Given the description of an element on the screen output the (x, y) to click on. 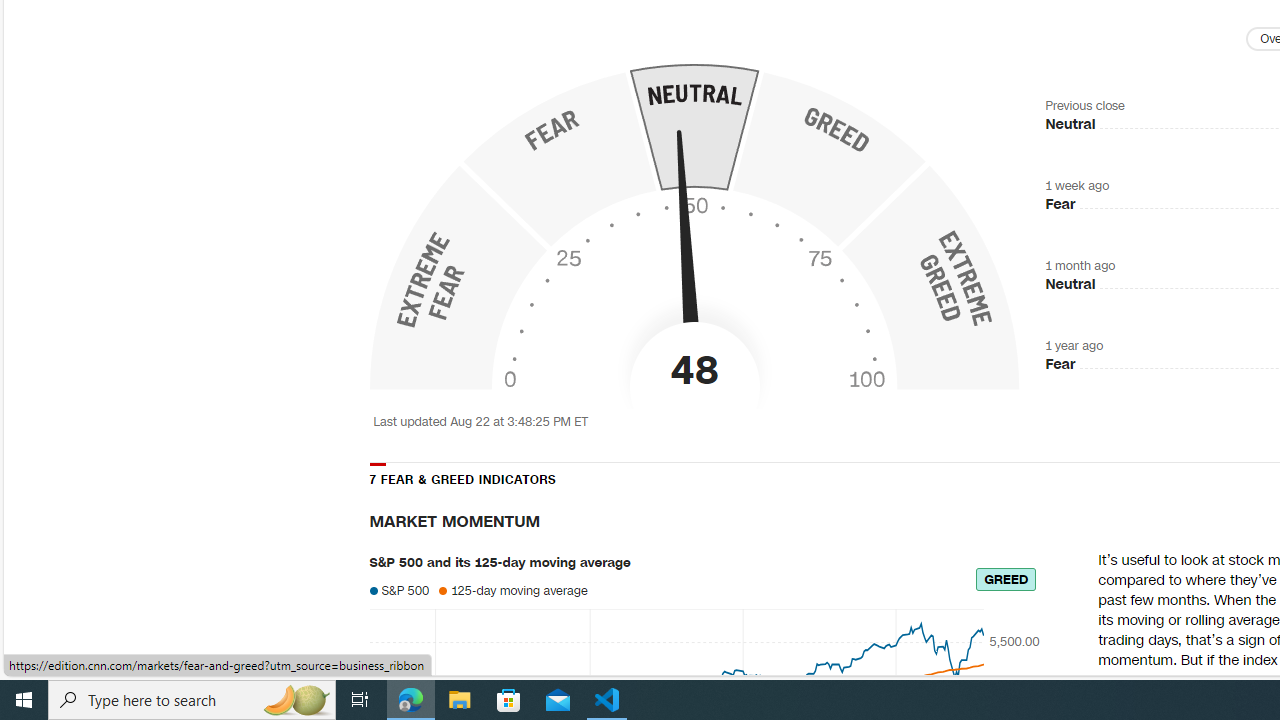
Class: market-line-chart__legend-item-svg (443, 590)
Fear & Greed Index - Investor Sentiment  (694, 229)
Class: market-fng-gauge__hand-svg (686, 255)
